Given the description of an element on the screen output the (x, y) to click on. 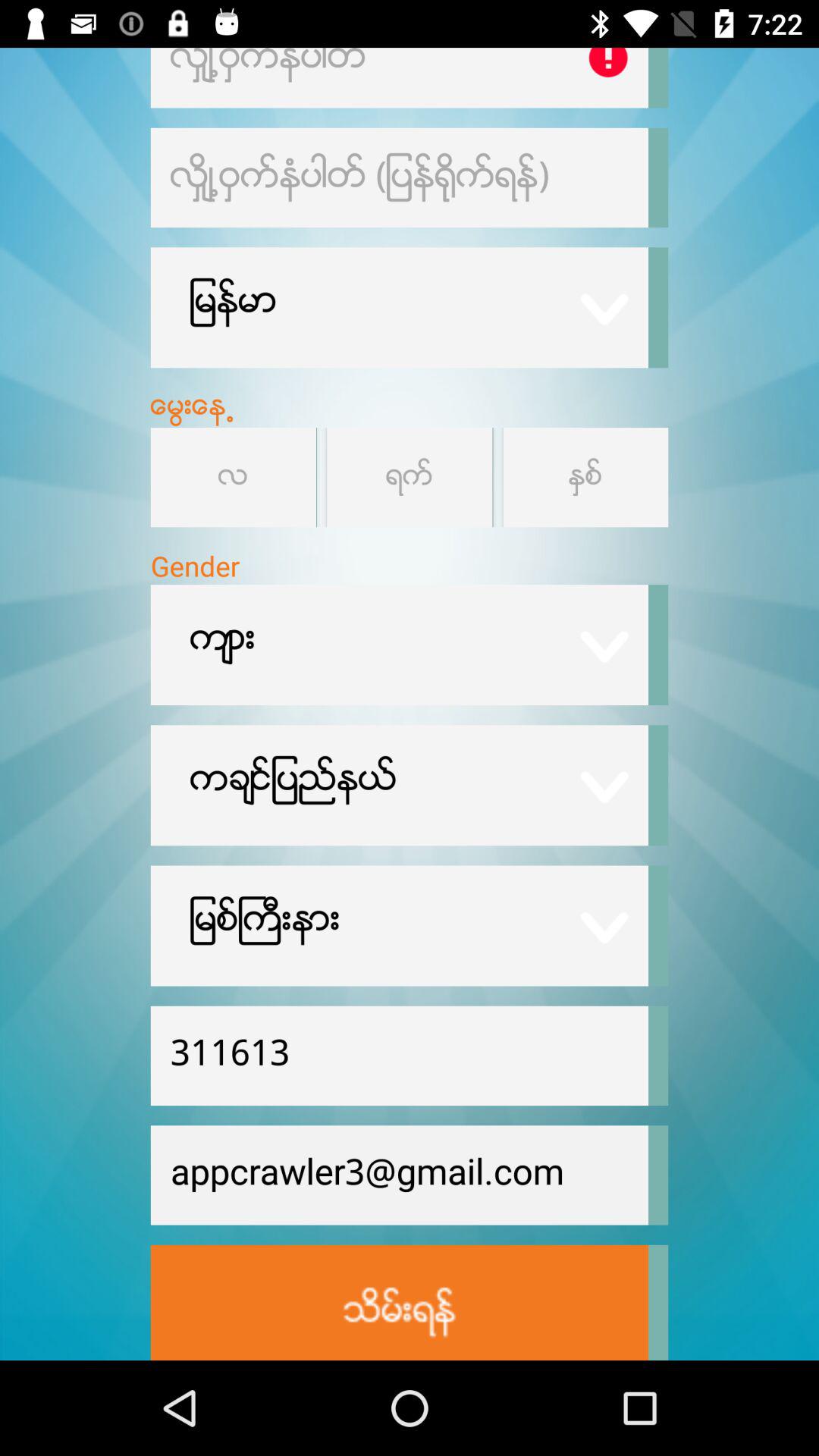
sign up button (399, 1302)
